Given the description of an element on the screen output the (x, y) to click on. 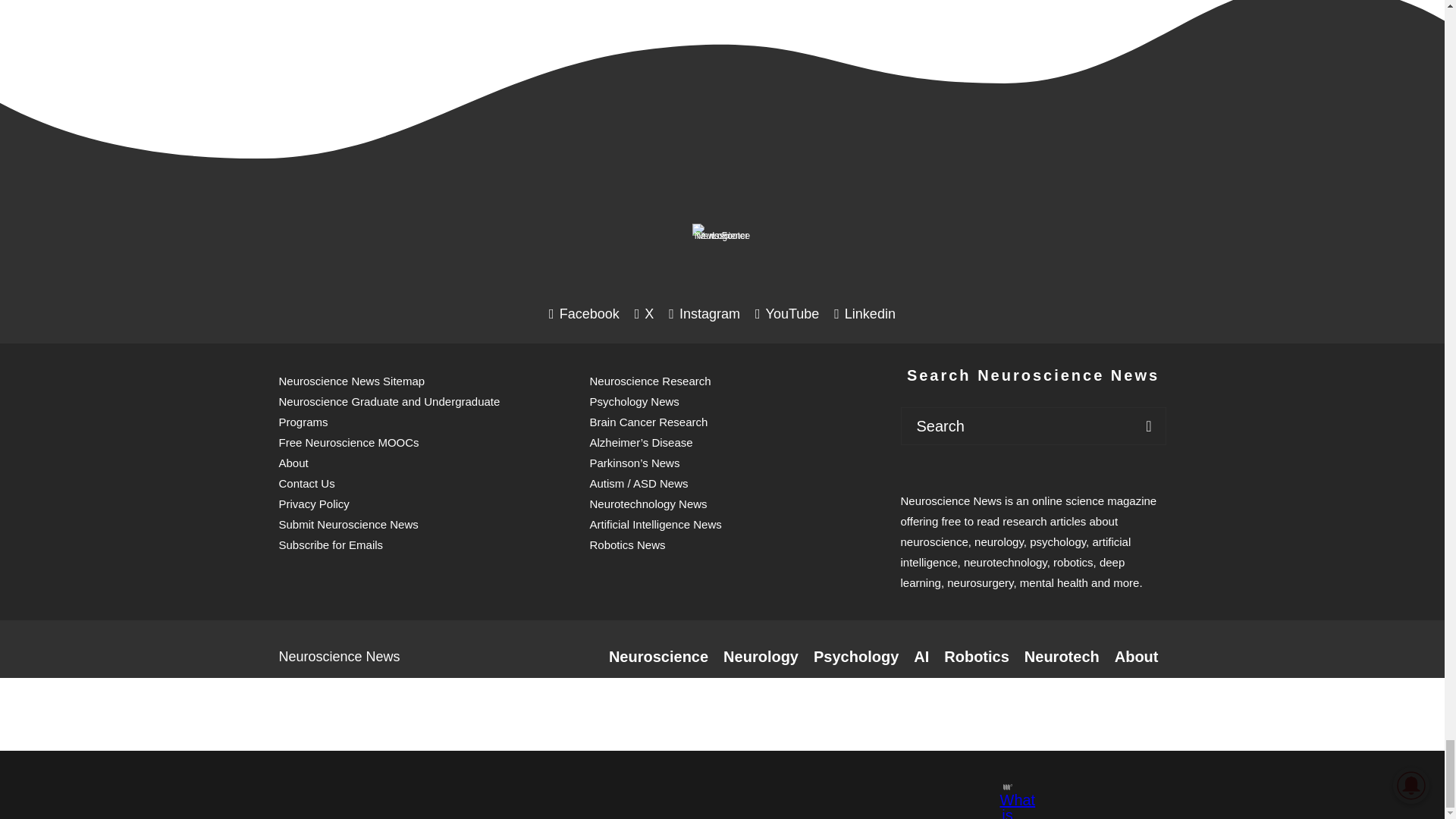
Neurology Research Articles (760, 656)
Neuroscience Research (657, 656)
Psychology Research Articles (855, 656)
